Given the description of an element on the screen output the (x, y) to click on. 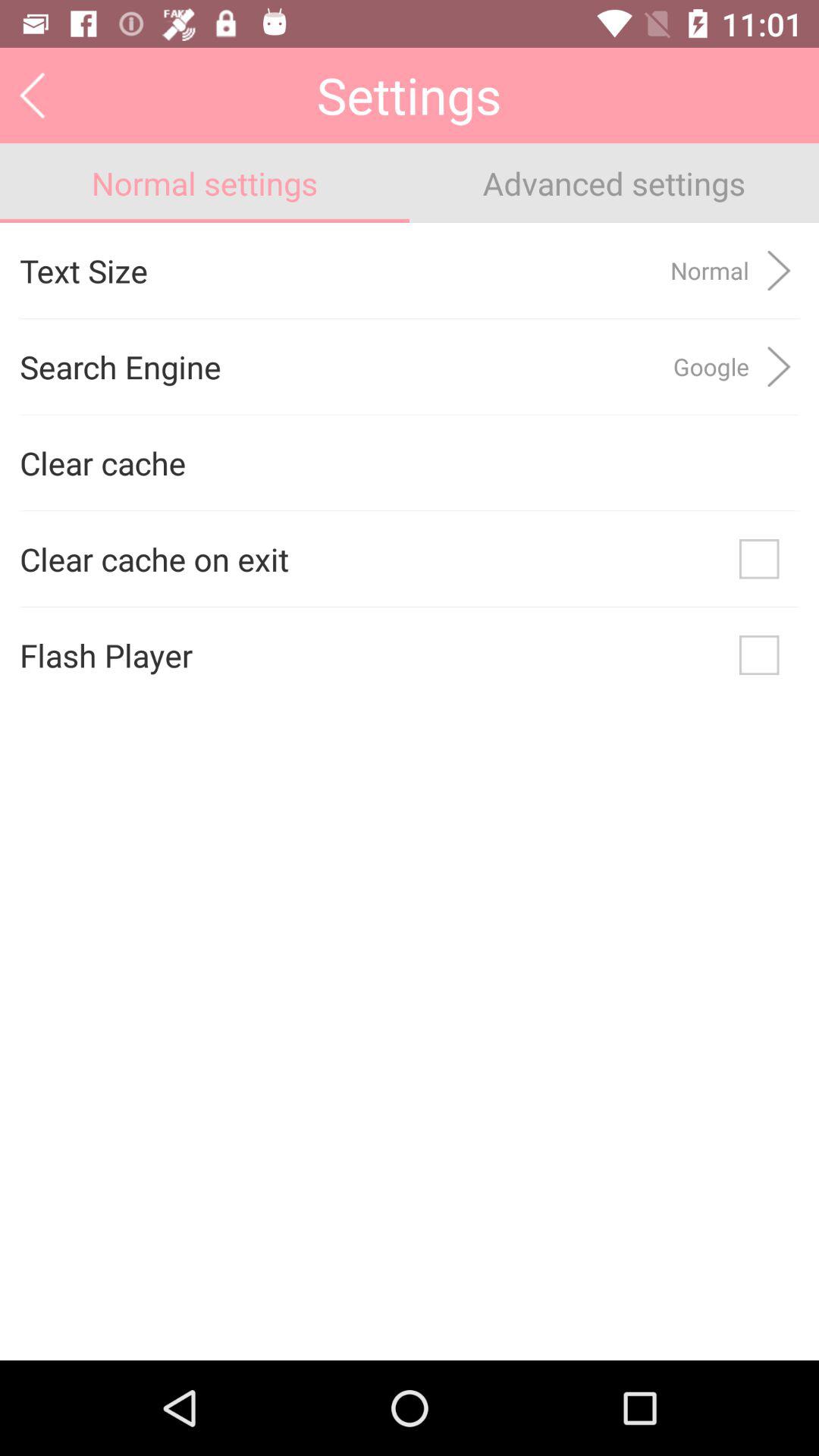
toggle flash player (759, 655)
